Given the description of an element on the screen output the (x, y) to click on. 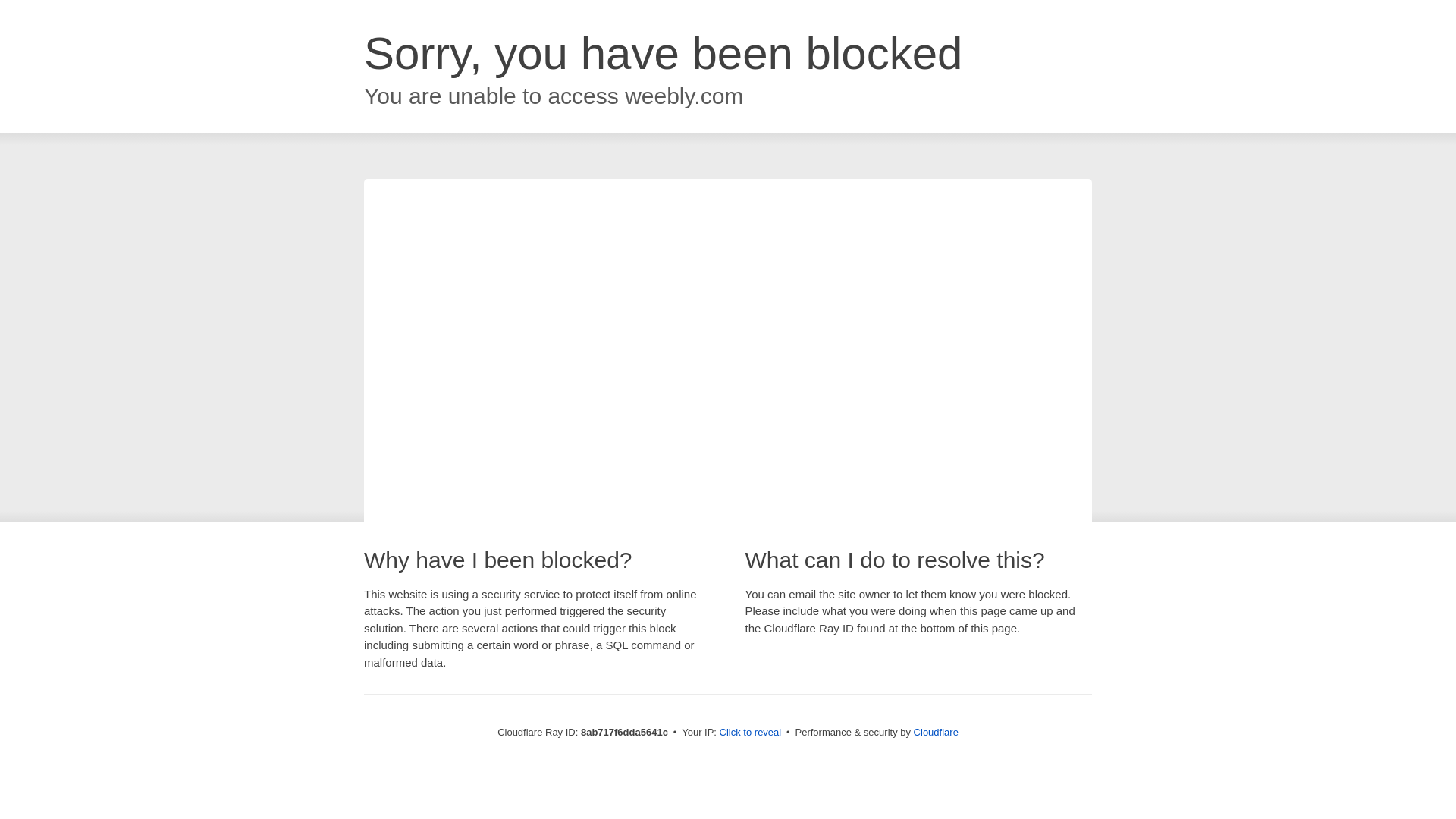
Cloudflare (936, 731)
Click to reveal (750, 732)
